Given the description of an element on the screen output the (x, y) to click on. 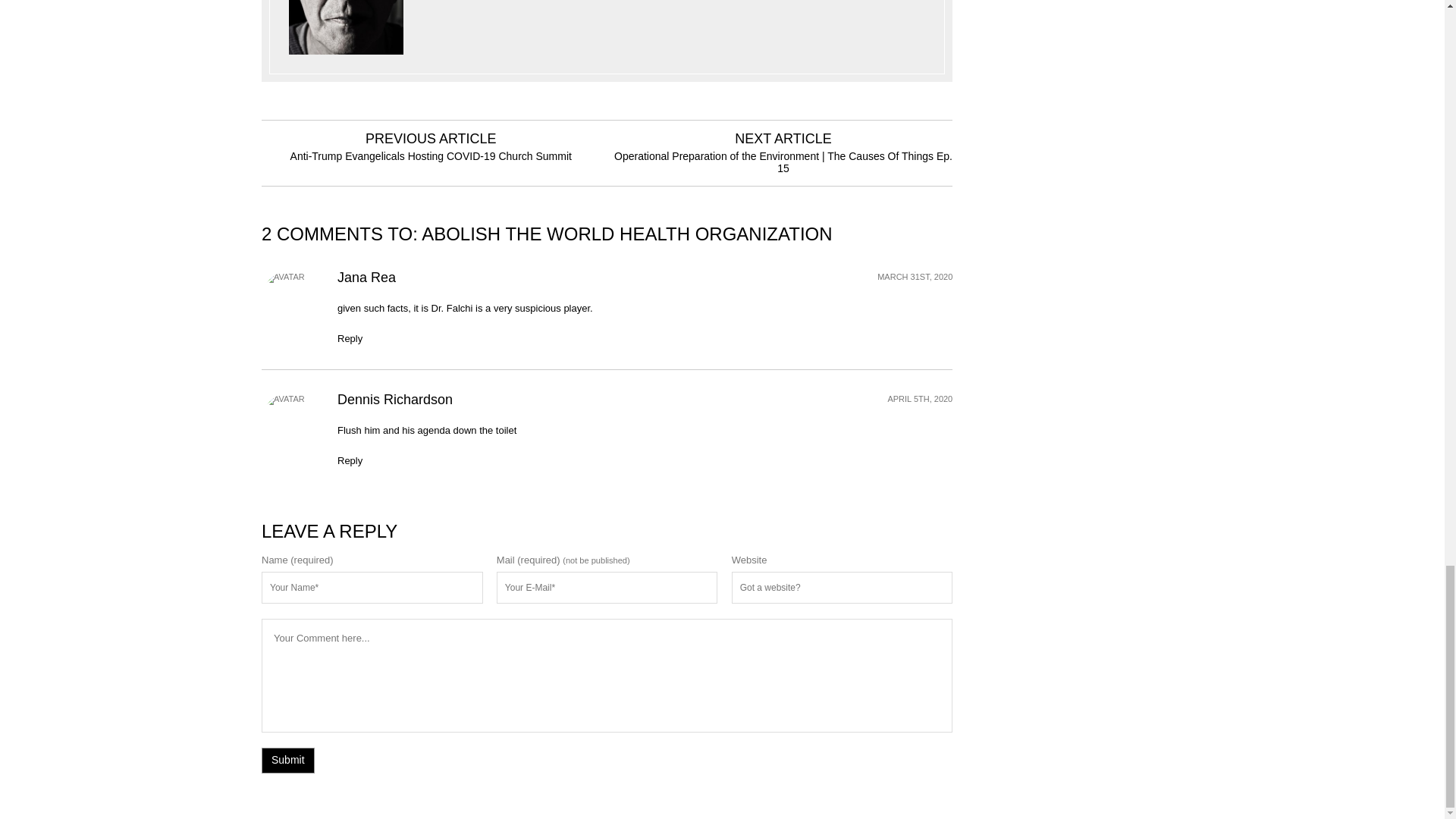
Anti-Trump Evangelicals Hosting COVID-19 Church Summit (430, 155)
Submit (288, 760)
